Given the description of an element on the screen output the (x, y) to click on. 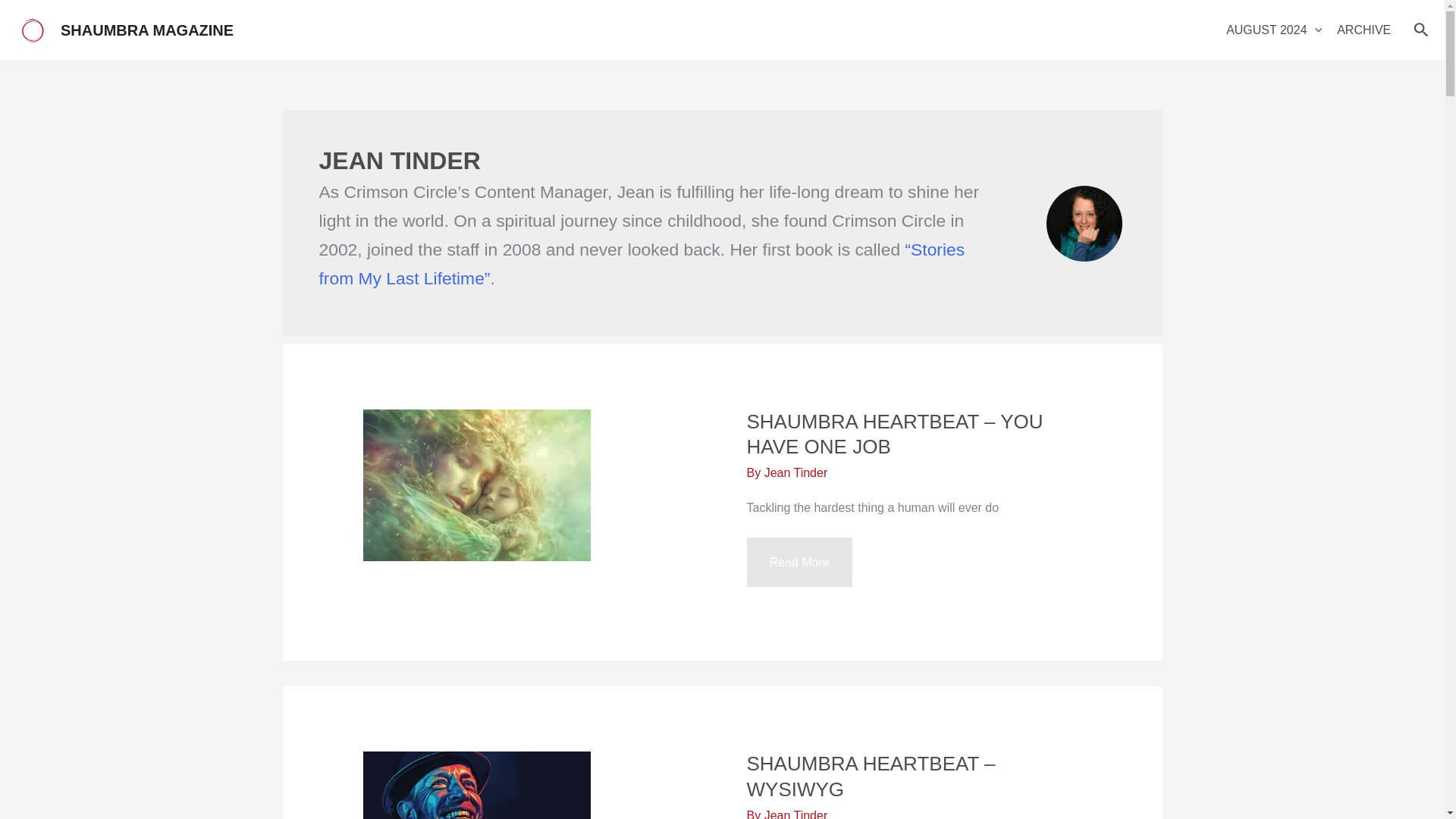
AUGUST 2024 (1273, 30)
ARCHIVE (1363, 30)
View all posts by Jean Tinder (796, 472)
View all posts by Jean Tinder (796, 814)
Jean Tinder (796, 814)
SHAUMBRA MAGAZINE (146, 30)
Jean Tinder (796, 472)
